Given the description of an element on the screen output the (x, y) to click on. 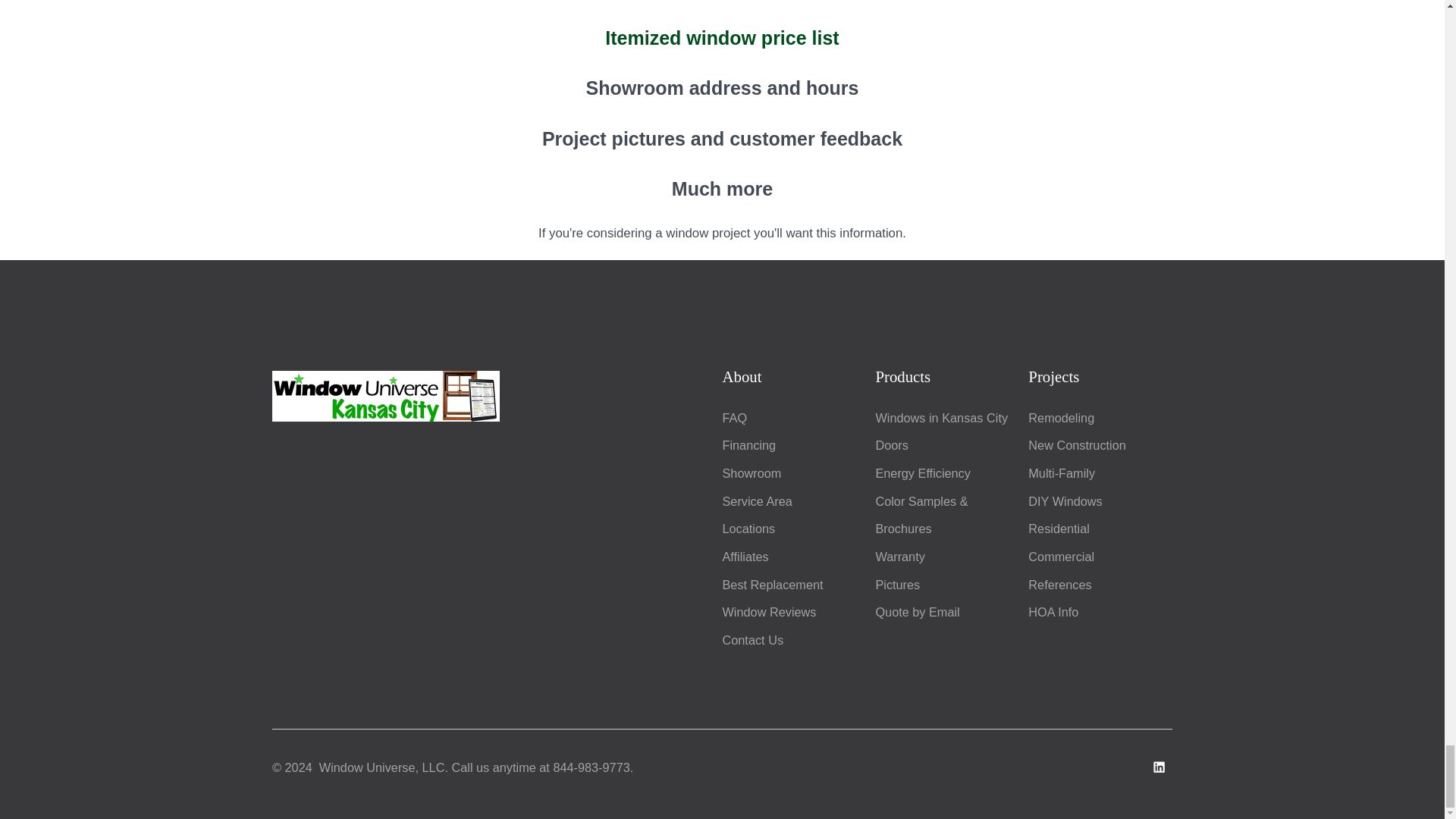
Best Replacement Window Reviews (772, 598)
Showroom (751, 472)
Service Area (757, 500)
Windows in Kansas City (941, 418)
Doors (891, 445)
Affiliates (745, 556)
Energy Efficiency (923, 472)
Financing (749, 445)
Contact Us (752, 640)
Locations (748, 528)
